Given the description of an element on the screen output the (x, y) to click on. 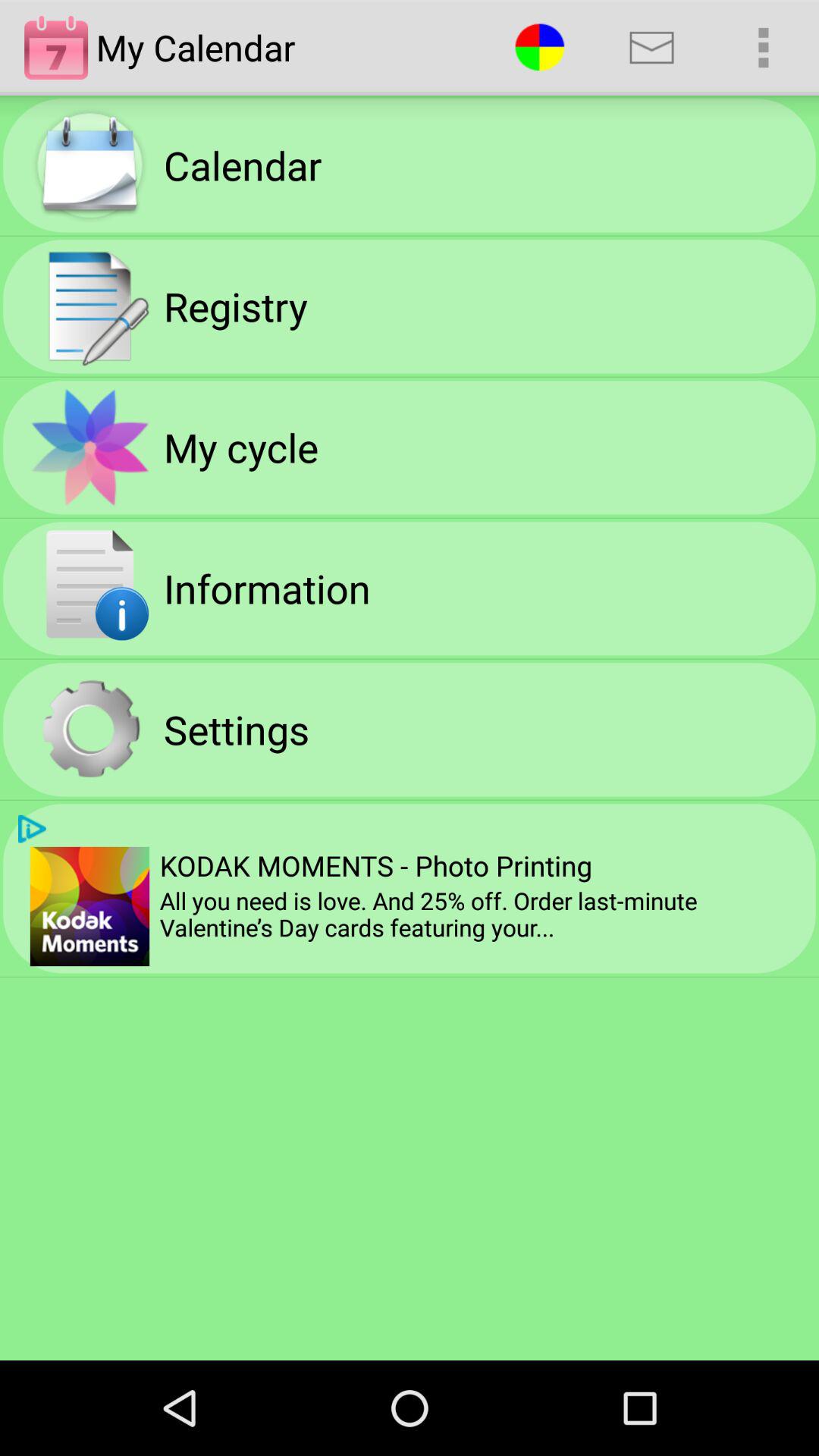
open app below kodak moments photo (483, 914)
